Given the description of an element on the screen output the (x, y) to click on. 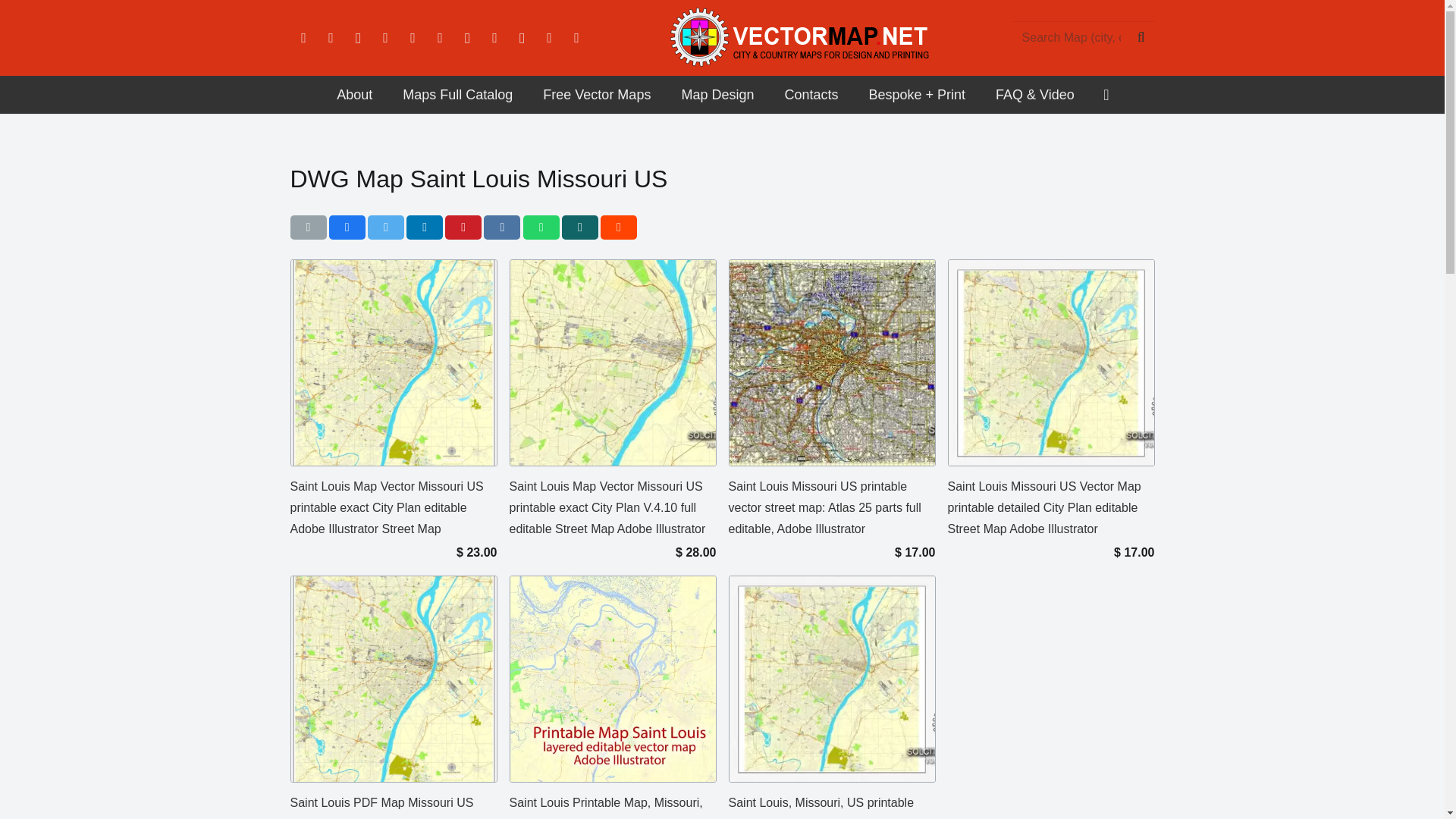
EBAY (575, 37)
Twitter (330, 37)
Reddit (466, 37)
Maps Full Catalog (457, 94)
YouTube (412, 37)
Facebook (303, 37)
LinkedIn (384, 37)
Telegram (521, 37)
ETSY SHOP (548, 37)
Pinterest (494, 37)
Instagram (357, 37)
About (354, 94)
Vector Map Developers (354, 94)
Amazon (439, 37)
